Given the description of an element on the screen output the (x, y) to click on. 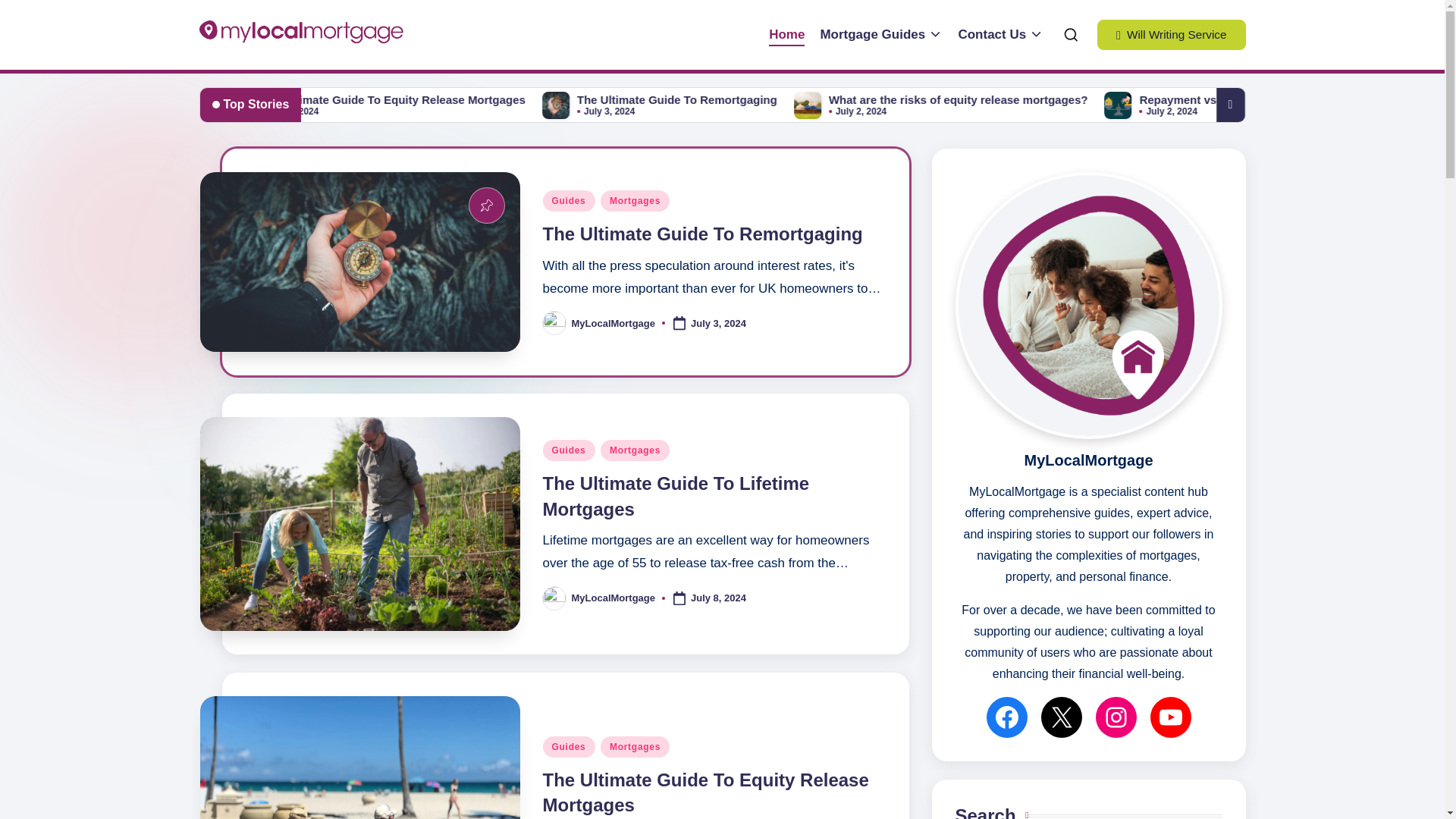
The Ultimate Guide To Remortgaging (703, 233)
Contact Us (1000, 34)
What are the risks of equity release mortgages? (1241, 99)
Home (786, 34)
The Ultimate Guide To Equity Release Mortgages (706, 792)
The Ultimate Guide To Lifetime Mortgages (676, 496)
The Ultimate Guide To Equity Release Mortgages (685, 99)
The Ultimate Guide To Remortgaging (964, 99)
Will Writing Service (1171, 34)
View all posts by MyLocalMortgage (614, 597)
The Ultimate Guide To Lifetime Mortgages (394, 99)
Mortgage Guides (880, 34)
View all posts by MyLocalMortgage (614, 323)
Featured (486, 205)
